Given the description of an element on the screen output the (x, y) to click on. 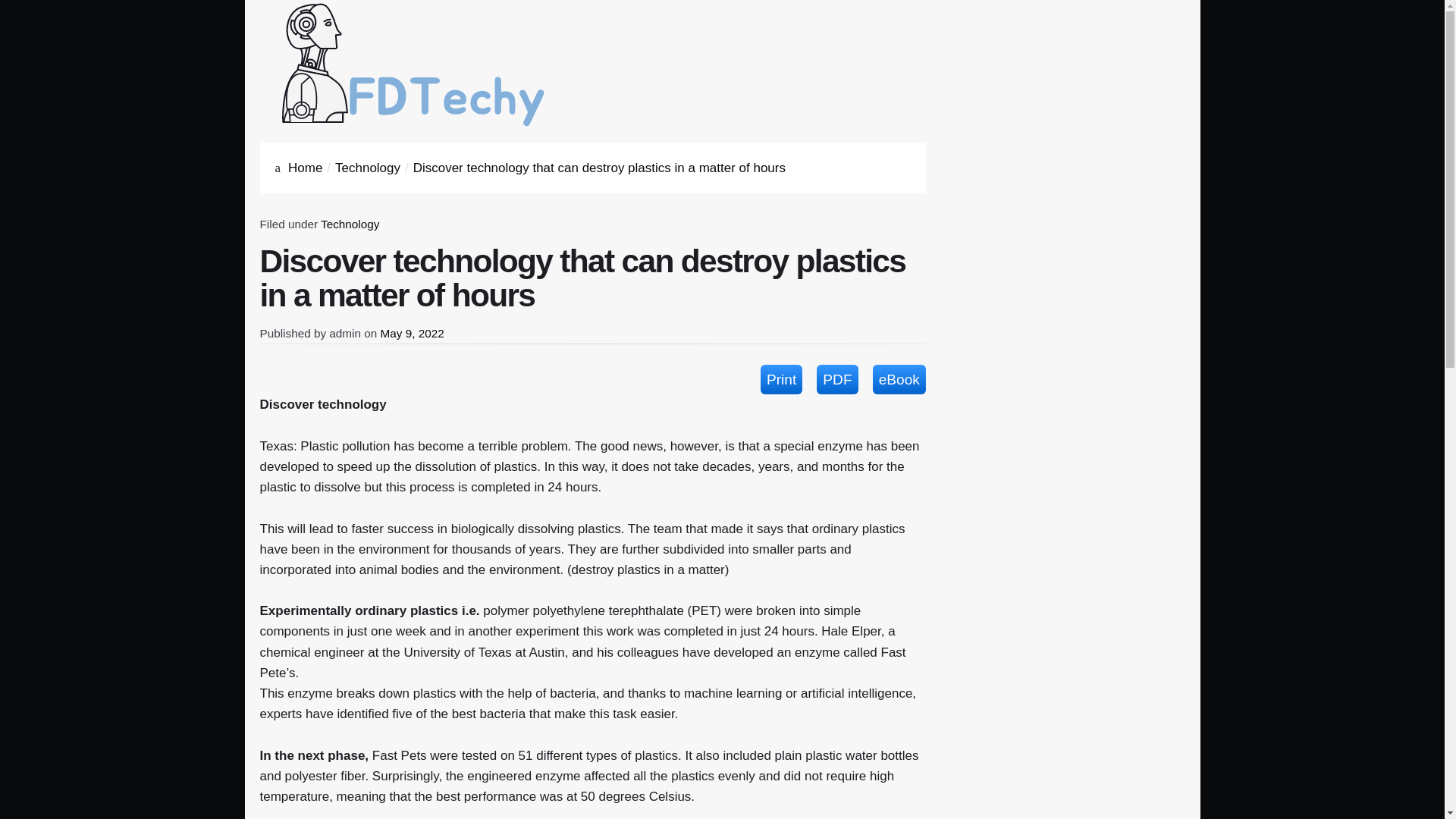
Technology (349, 223)
May 9, 2022 (412, 332)
Home (304, 167)
PDF (836, 378)
1:48 pm (412, 332)
Technology (367, 167)
eBook (899, 378)
Tech News, Health news , World News and Business information (413, 63)
Print (781, 378)
